Given the description of an element on the screen output the (x, y) to click on. 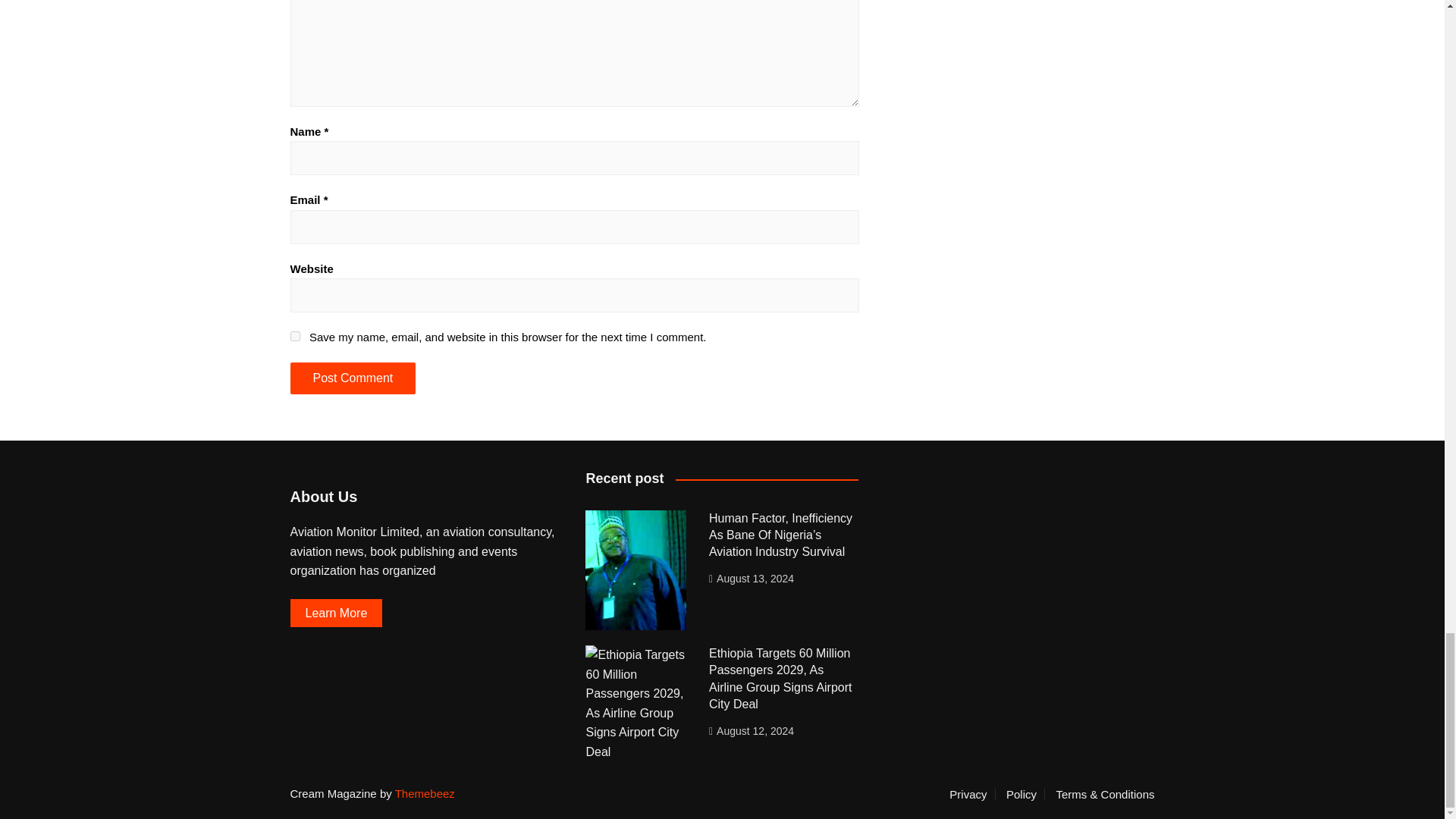
yes (294, 336)
Post Comment (351, 377)
